Given the description of an element on the screen output the (x, y) to click on. 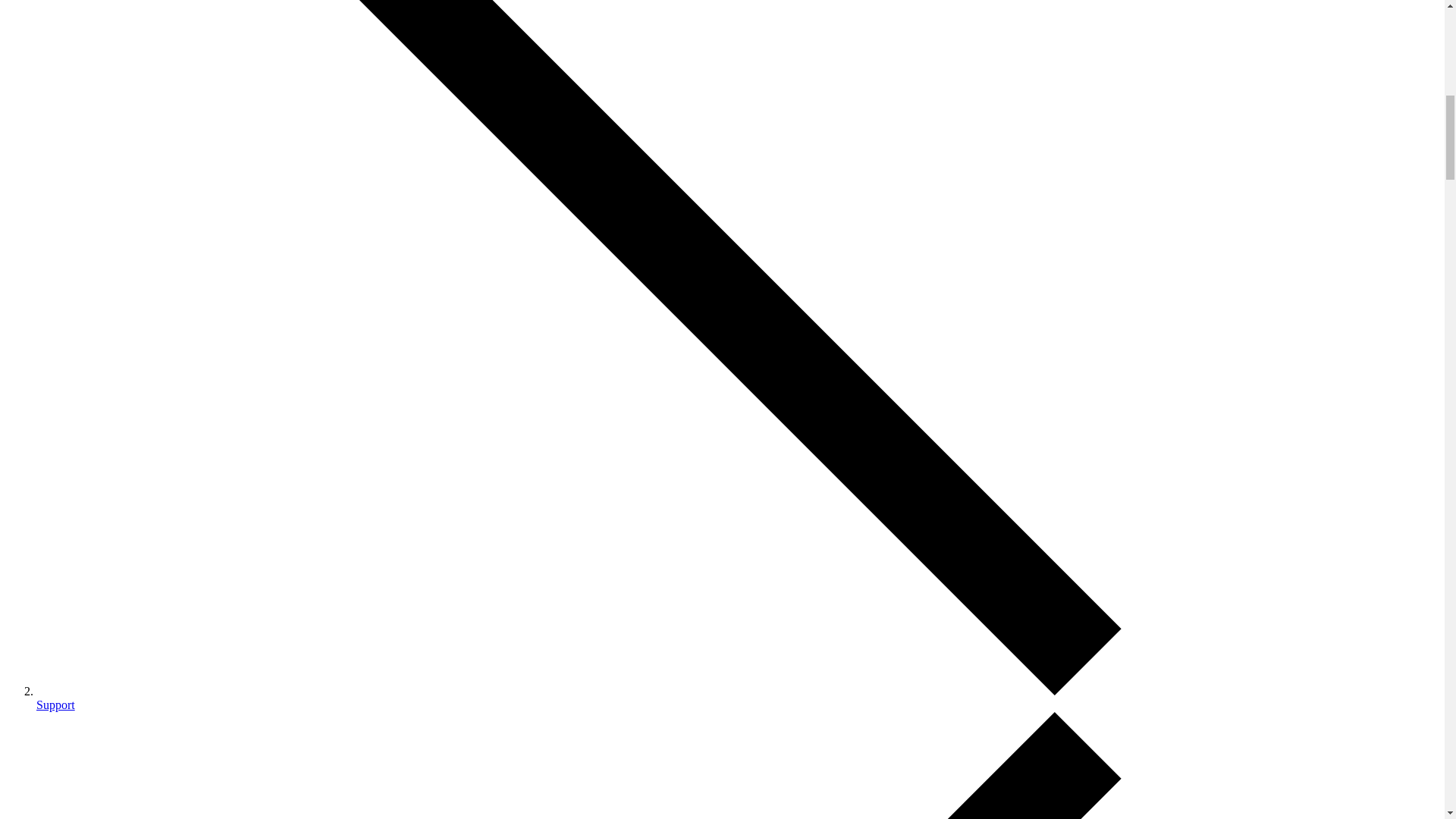
Support (55, 704)
